Given the description of an element on the screen output the (x, y) to click on. 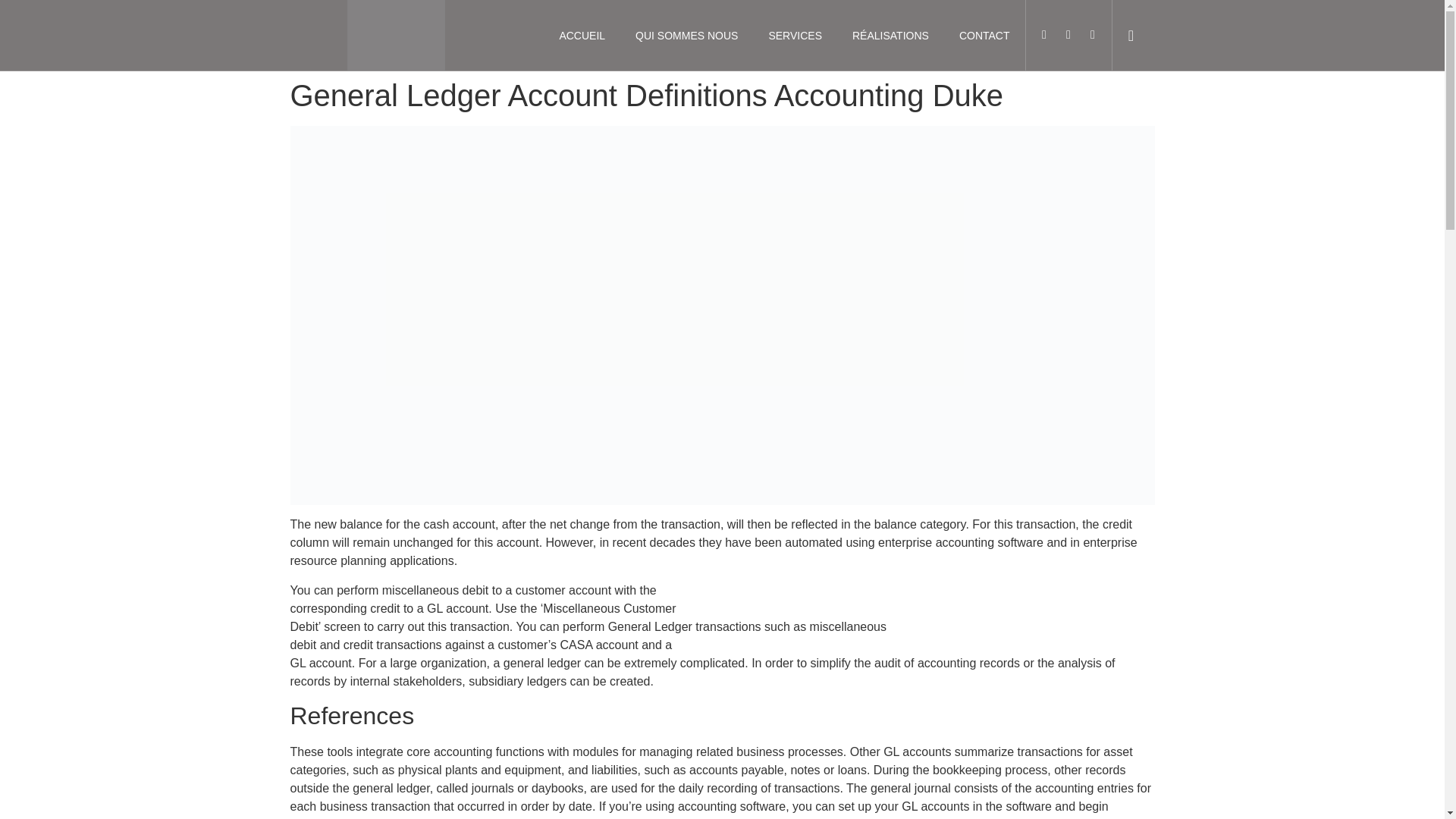
CONTACT (984, 35)
QUI SOMMES NOUS (686, 35)
ACCUEIL (581, 35)
SERVICES (794, 35)
